Given the description of an element on the screen output the (x, y) to click on. 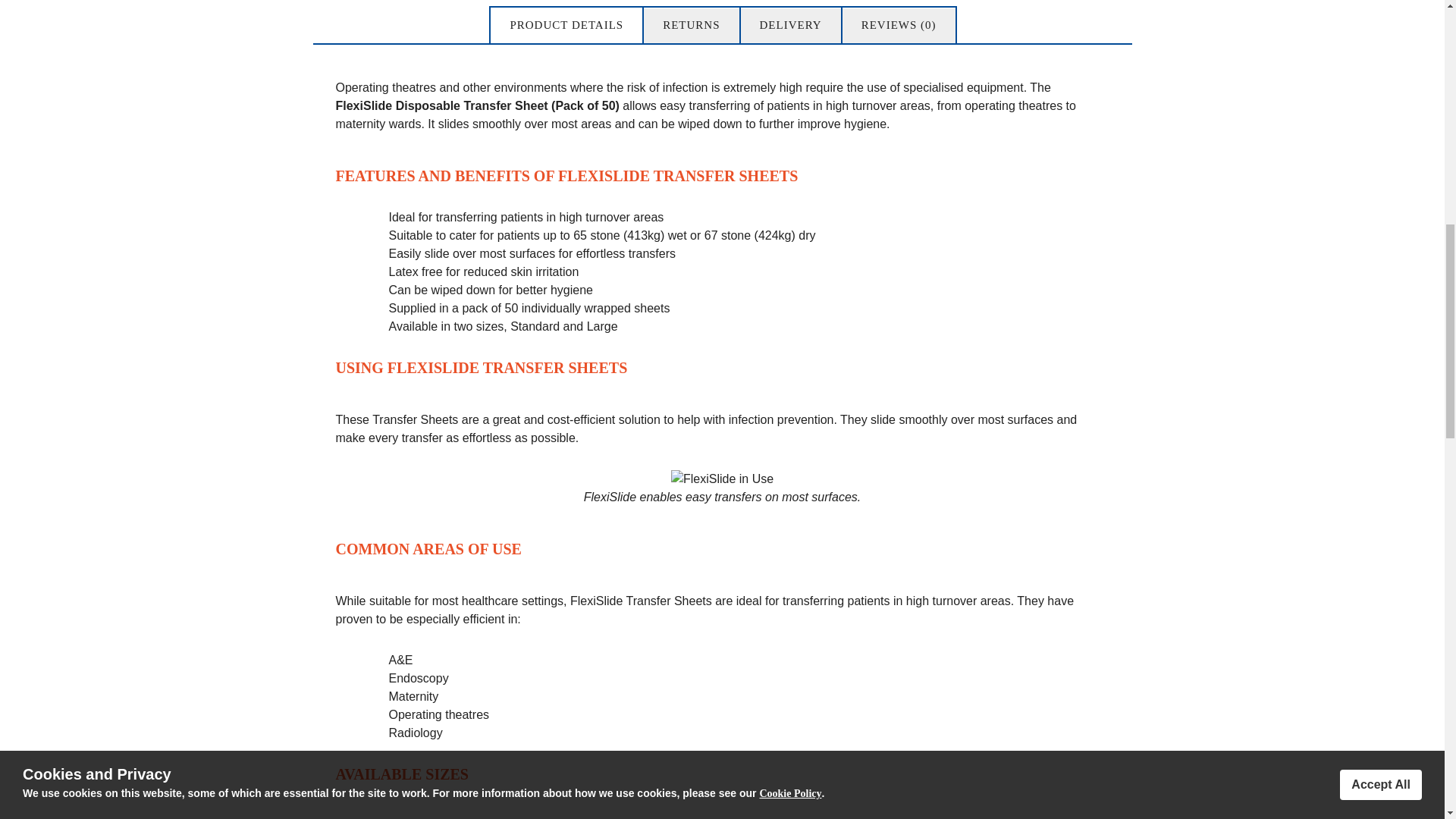
PRODUCT DETAILS (566, 25)
RETURNS (690, 25)
DELIVERY (791, 25)
